Given the description of an element on the screen output the (x, y) to click on. 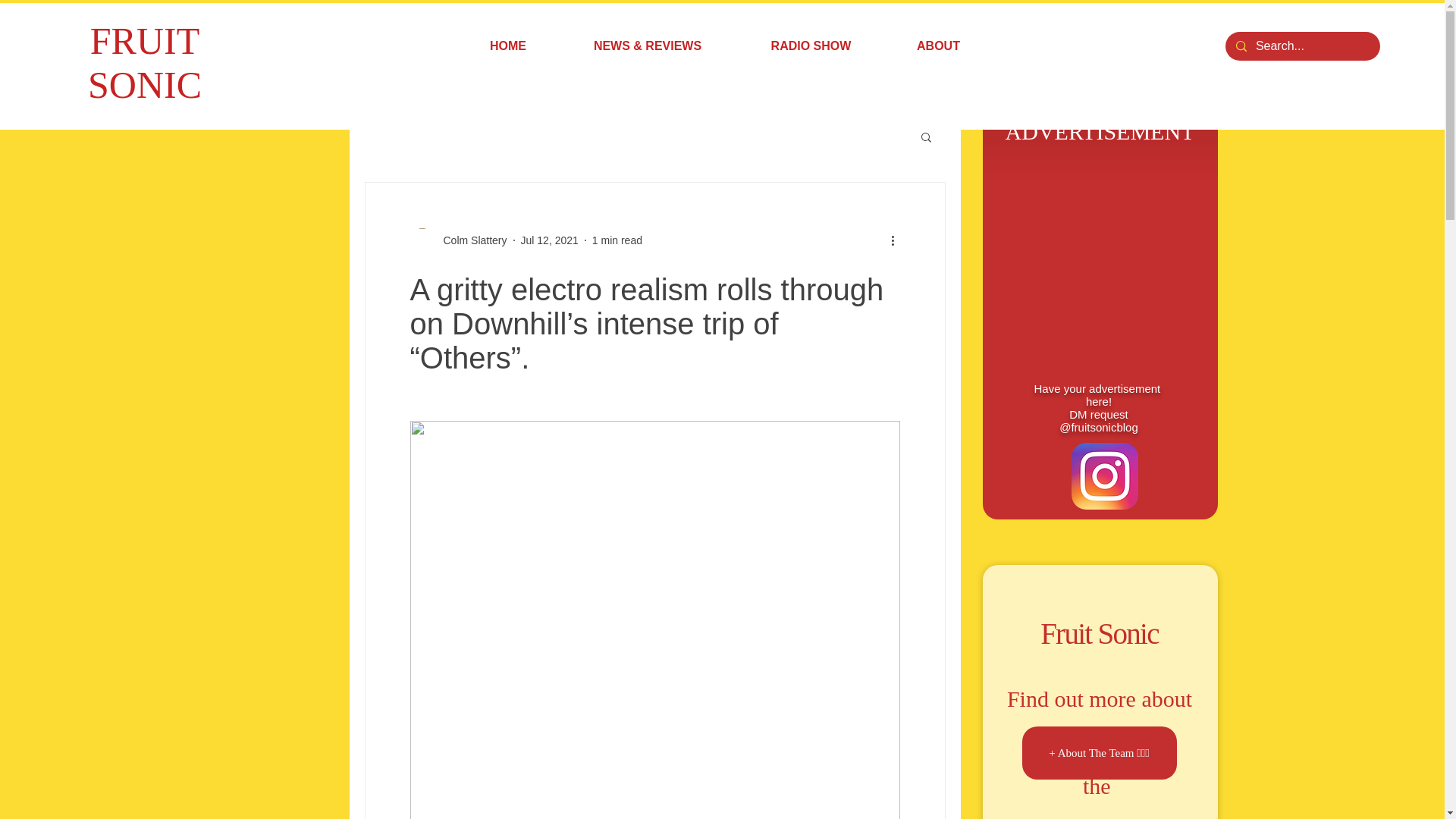
Colm Slattery (469, 239)
Jul 12, 2021 (549, 239)
FRUIT SONIC (144, 62)
HOME (508, 45)
ABOUT (938, 45)
RADIO SHOW (810, 45)
Colm Slattery (457, 240)
1 min read (617, 239)
